Given the description of an element on the screen output the (x, y) to click on. 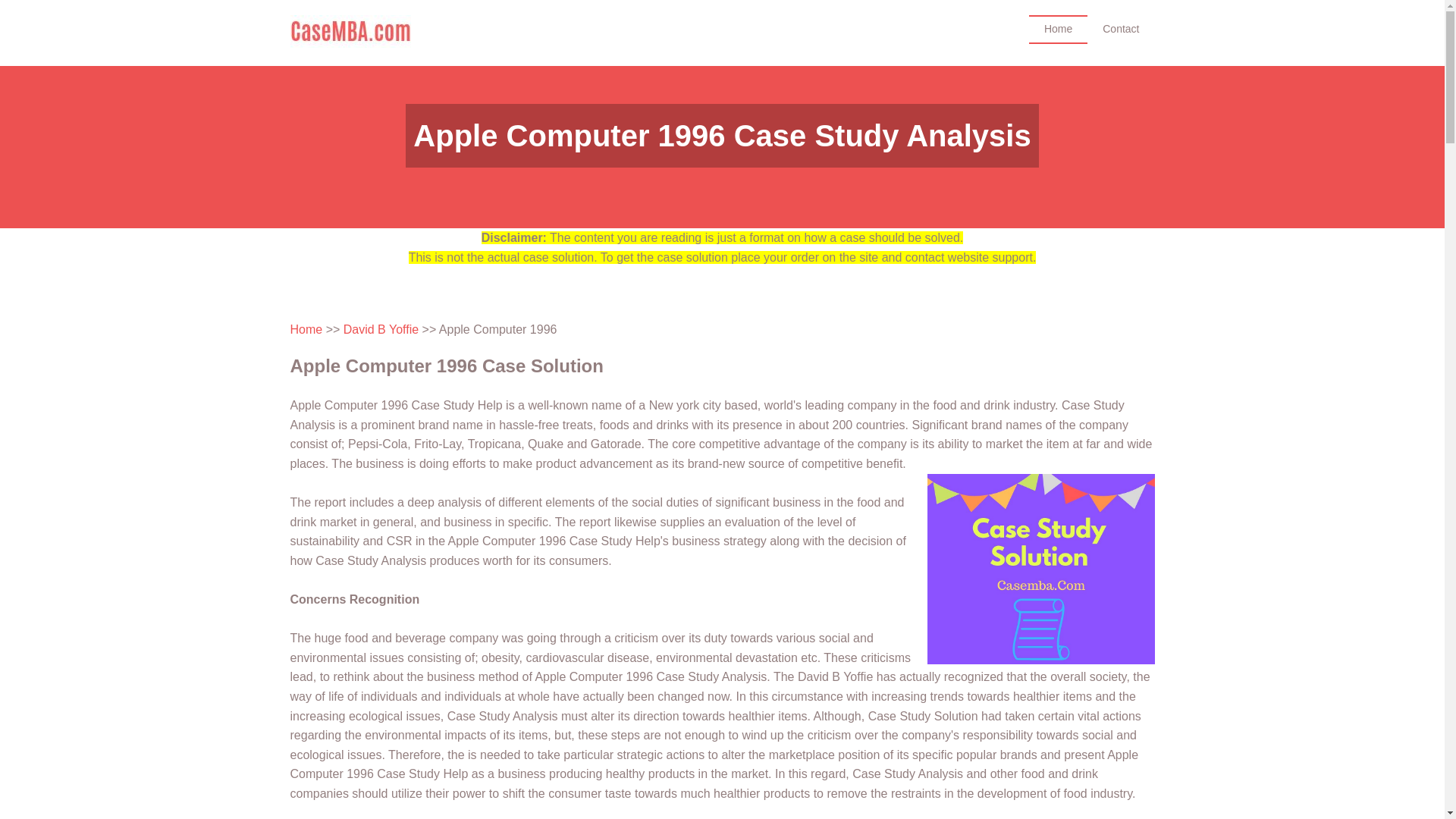
Home (305, 328)
David B Yoffie (381, 328)
Home (1058, 28)
Contact (1120, 28)
